Given the description of an element on the screen output the (x, y) to click on. 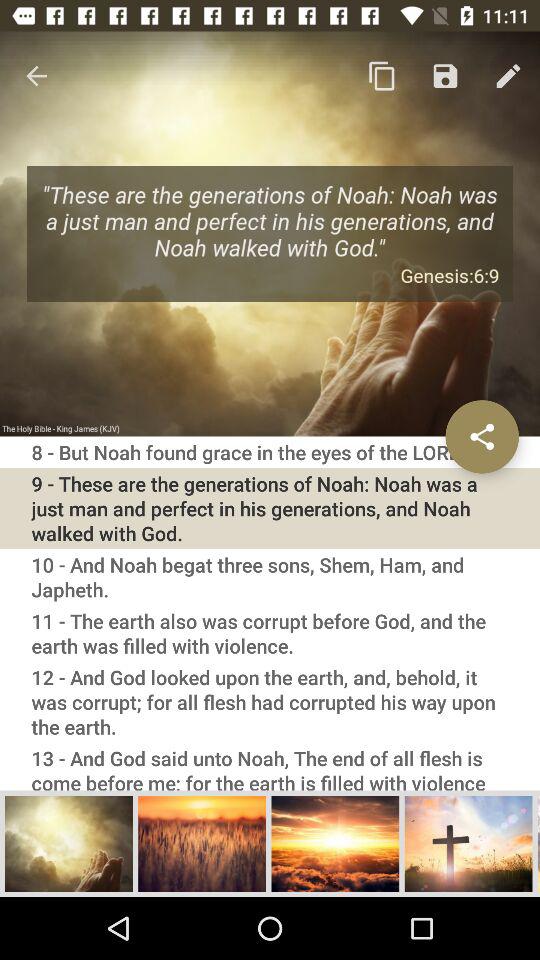
clipped image bottom right (538, 843)
